Given the description of an element on the screen output the (x, y) to click on. 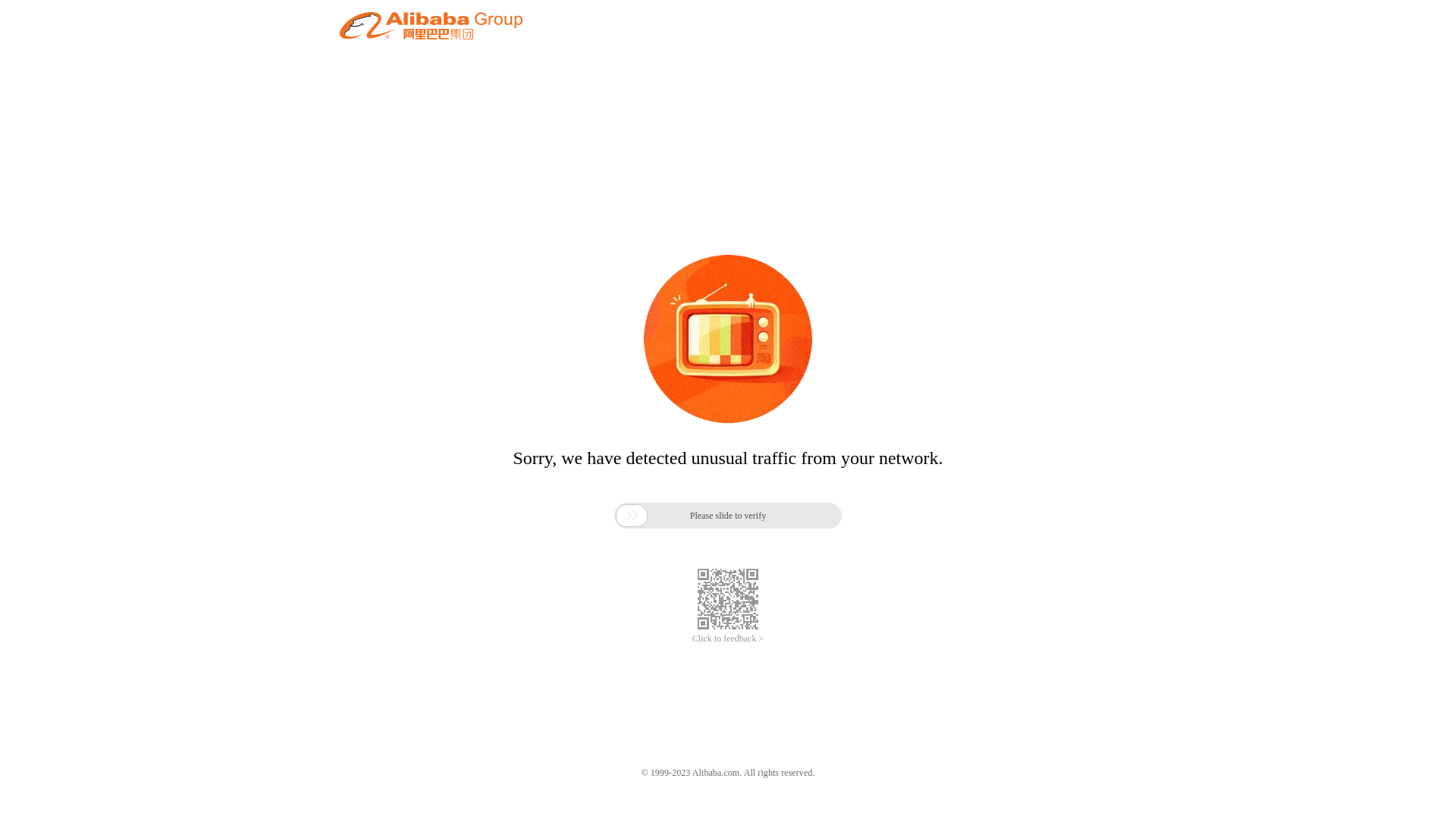
Click to feedback > Element type: text (727, 638)
